Given the description of an element on the screen output the (x, y) to click on. 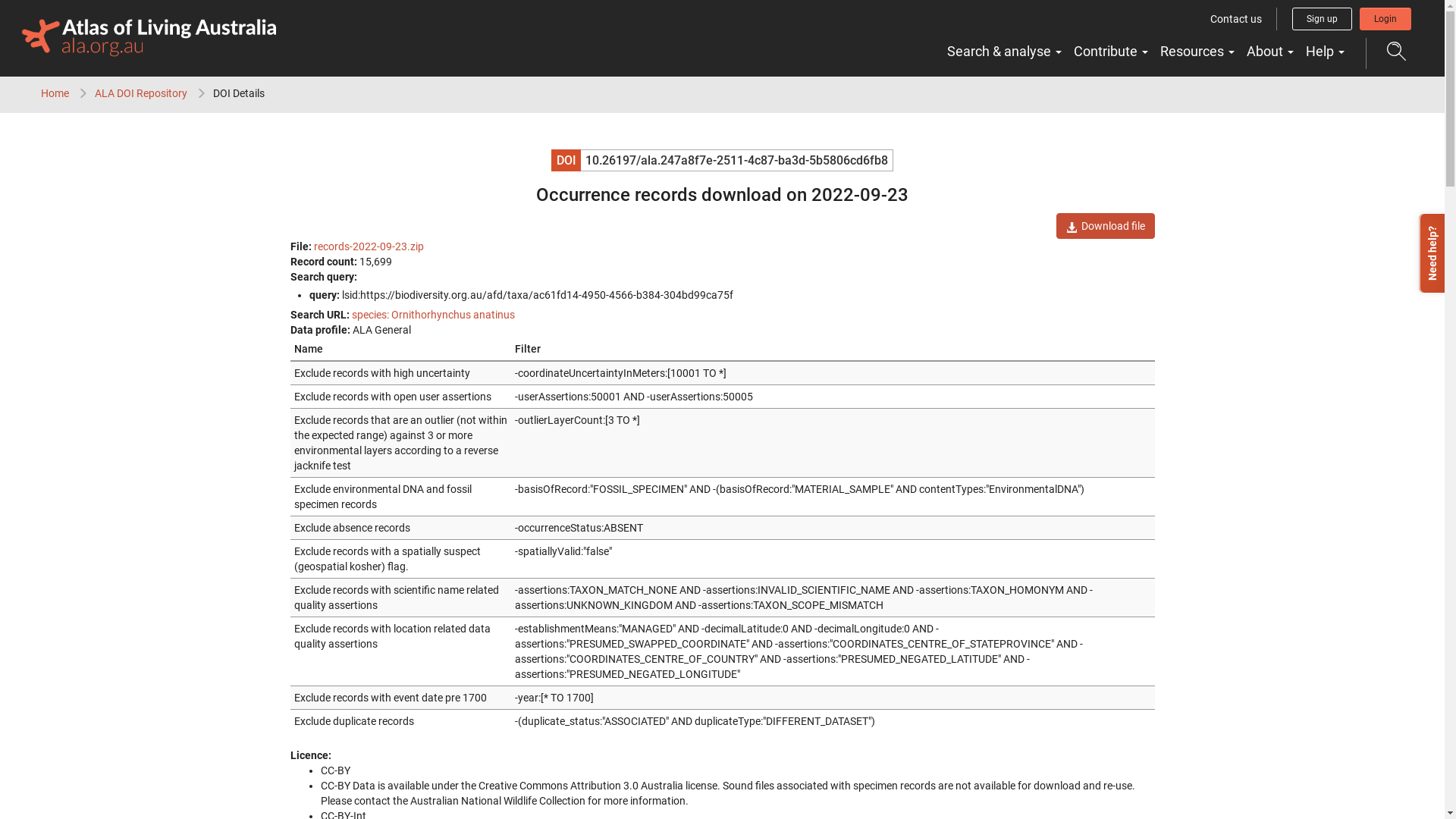
ALA DOI Repository Element type: text (140, 93)
Help Element type: text (1324, 51)
Resources Element type: text (1197, 51)
Home Element type: text (54, 93)
Contribute Element type: text (1110, 51)
species: Ornithorhynchus anatinus Element type: text (432, 314)
  Download file Element type: text (1104, 225)
Contact us Element type: text (1235, 18)
Sign up Element type: text (1322, 18)
DOI10.26197/ala.247a8f7e-2511-4c87-ba3d-5b5806cd6fb8 Element type: text (721, 160)
records-2022-09-23.zip Element type: text (368, 246)
Search & analyse Element type: text (1004, 51)
About Element type: text (1269, 51)
Login Element type: text (1385, 18)
